Given the description of an element on the screen output the (x, y) to click on. 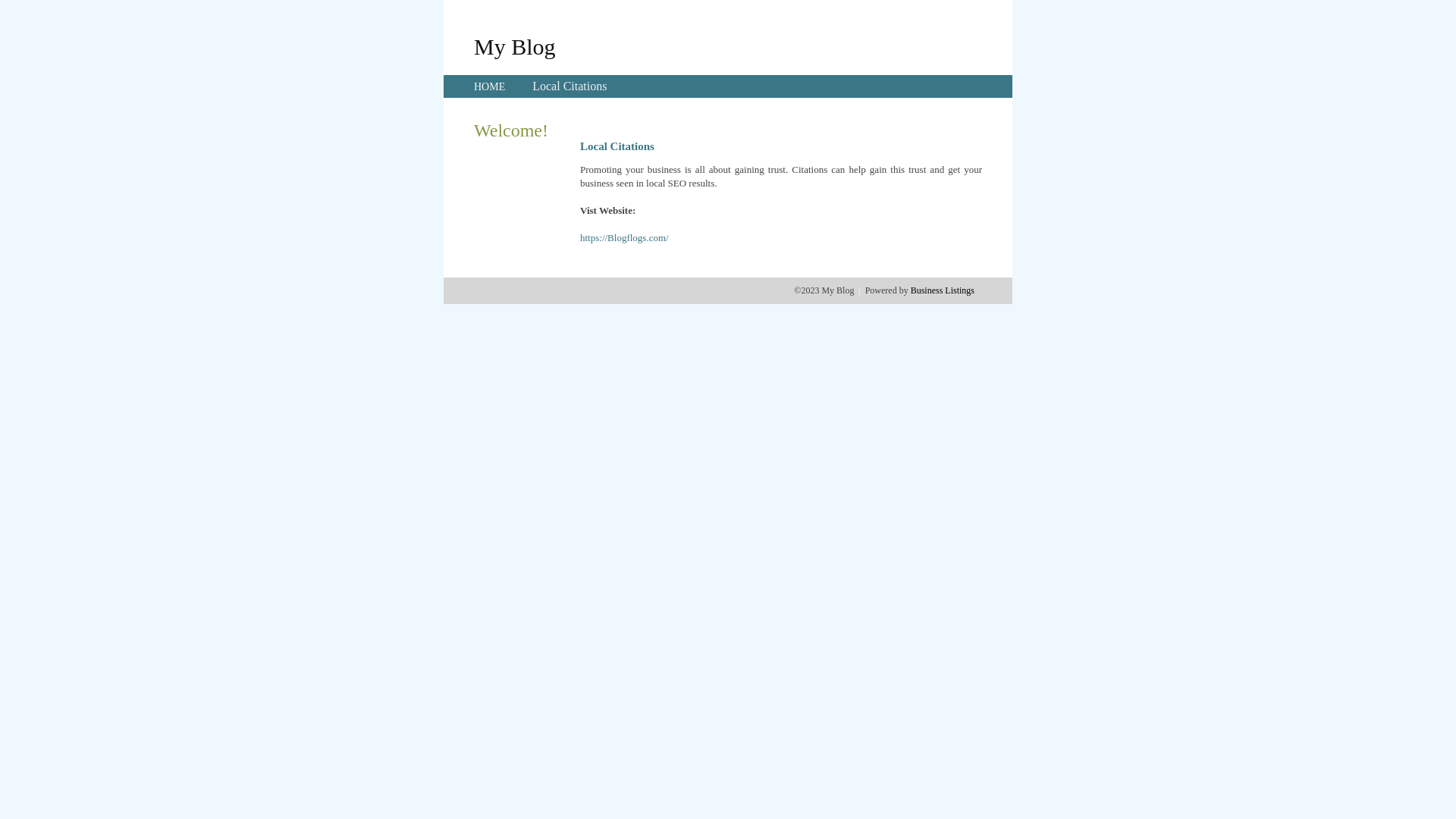
Business Listings Element type: text (942, 290)
My Blog Element type: text (514, 46)
https://Blogflogs.com/ Element type: text (624, 237)
HOME Element type: text (489, 86)
Local Citations Element type: text (569, 85)
